Given the description of an element on the screen output the (x, y) to click on. 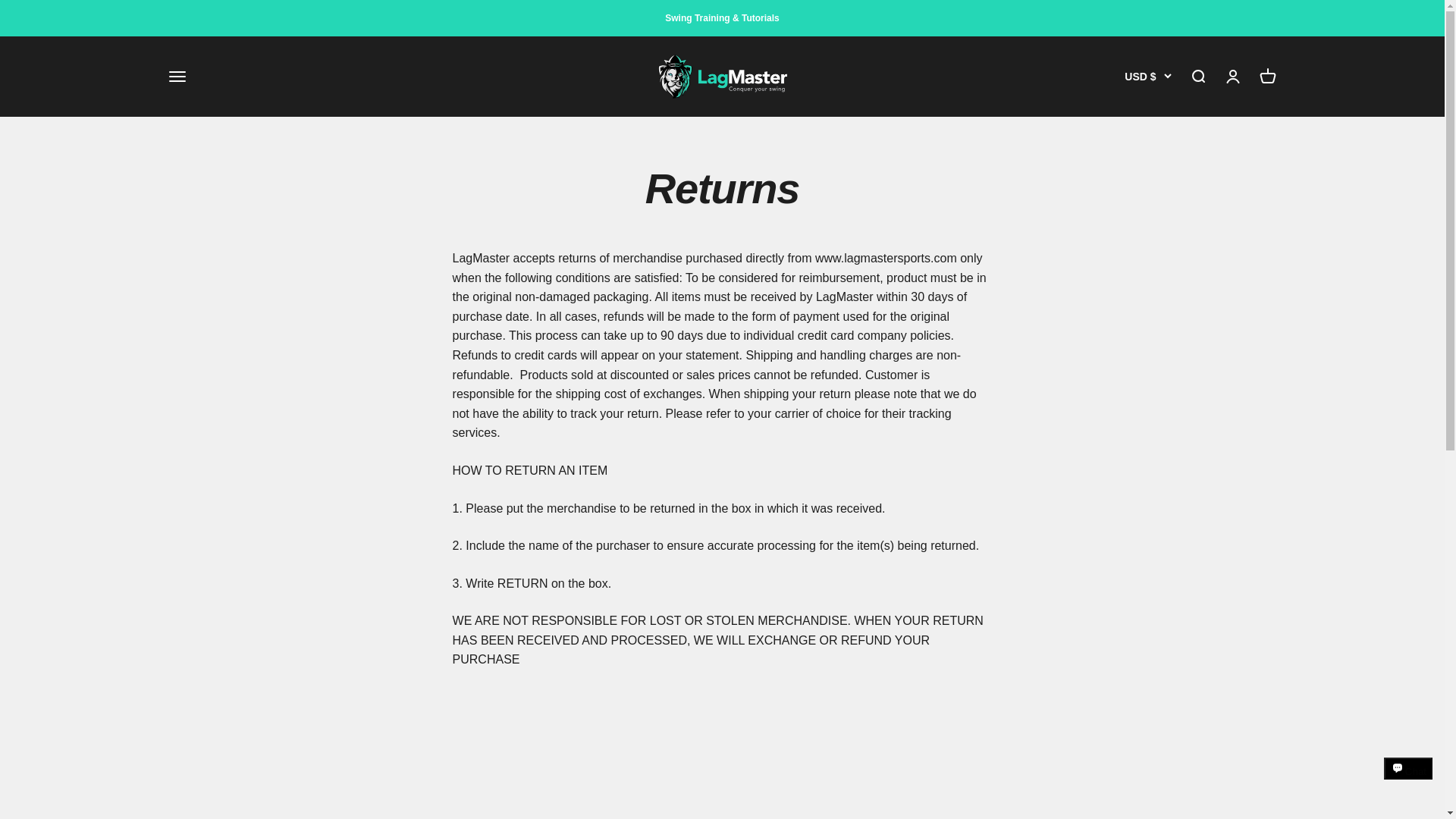
Shopify online store chat (1408, 781)
Open navigation menu (176, 76)
LagMaster Sports LLC (722, 76)
